Given the description of an element on the screen output the (x, y) to click on. 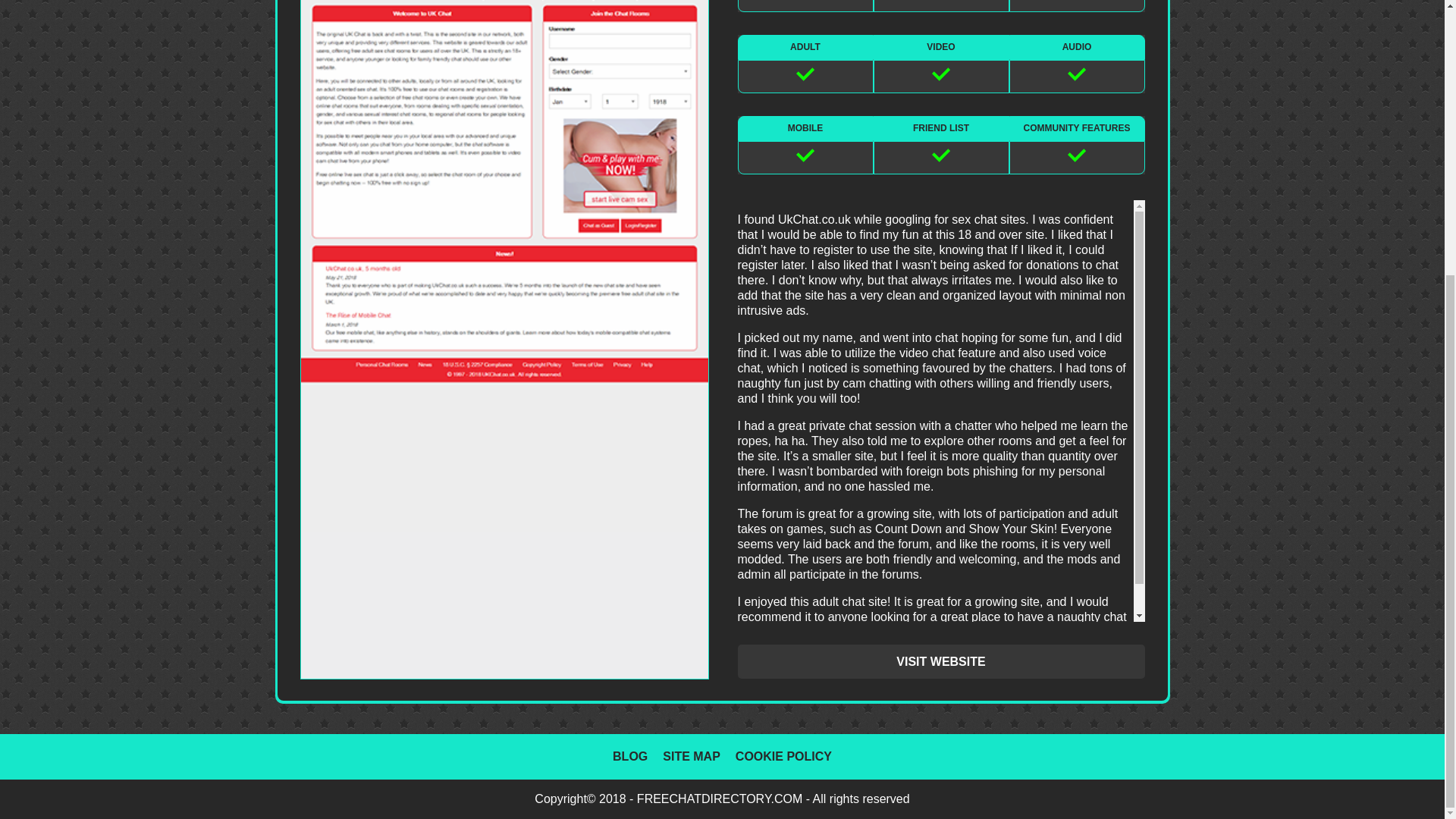
SITE MAP (691, 757)
COOKIE POLICY (783, 757)
BLOG (629, 757)
VISIT WEBSITE (940, 661)
